Given the description of an element on the screen output the (x, y) to click on. 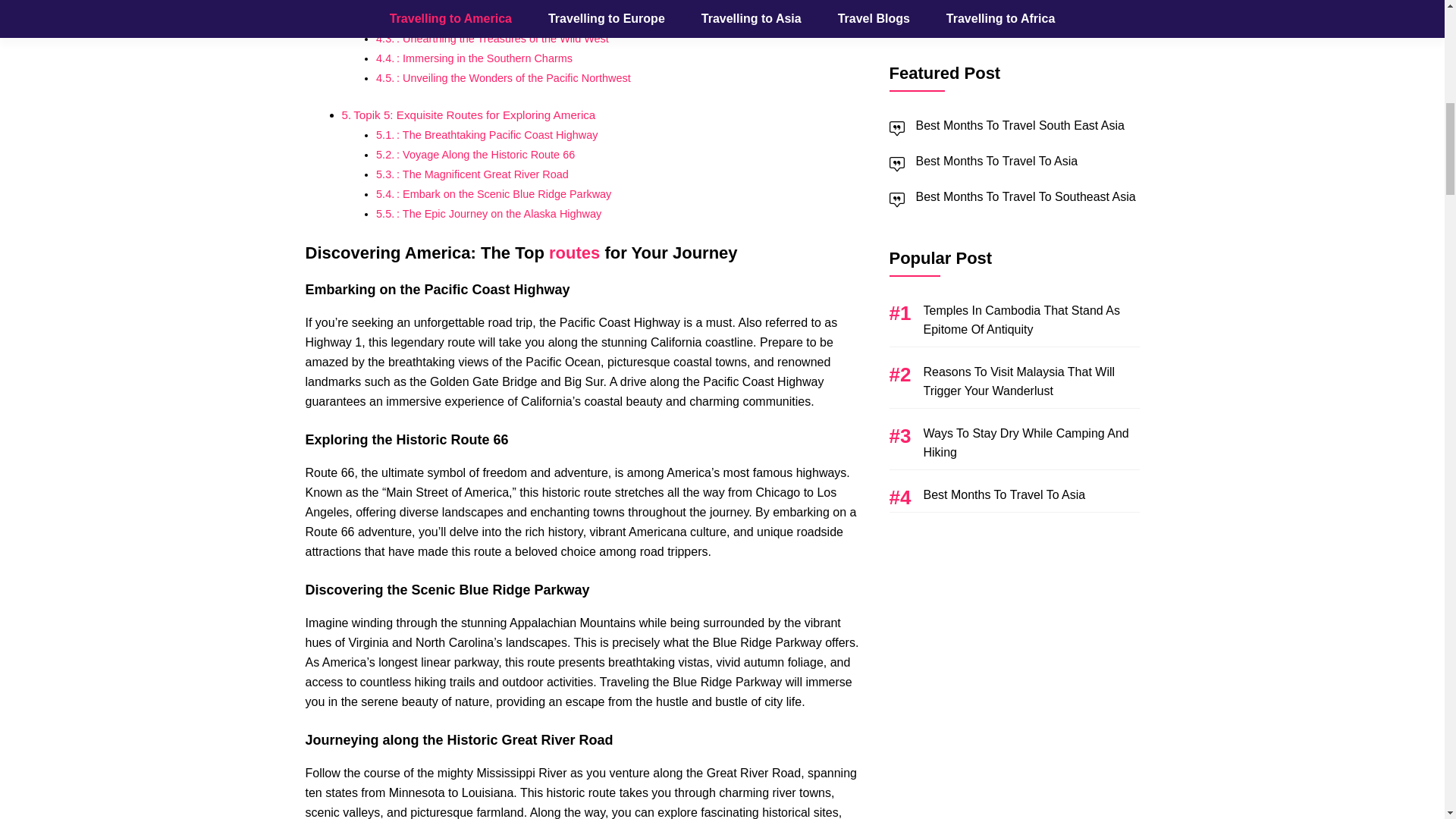
: Unveiling the Wonders of the East Coast (497, 2)
